Given the description of an element on the screen output the (x, y) to click on. 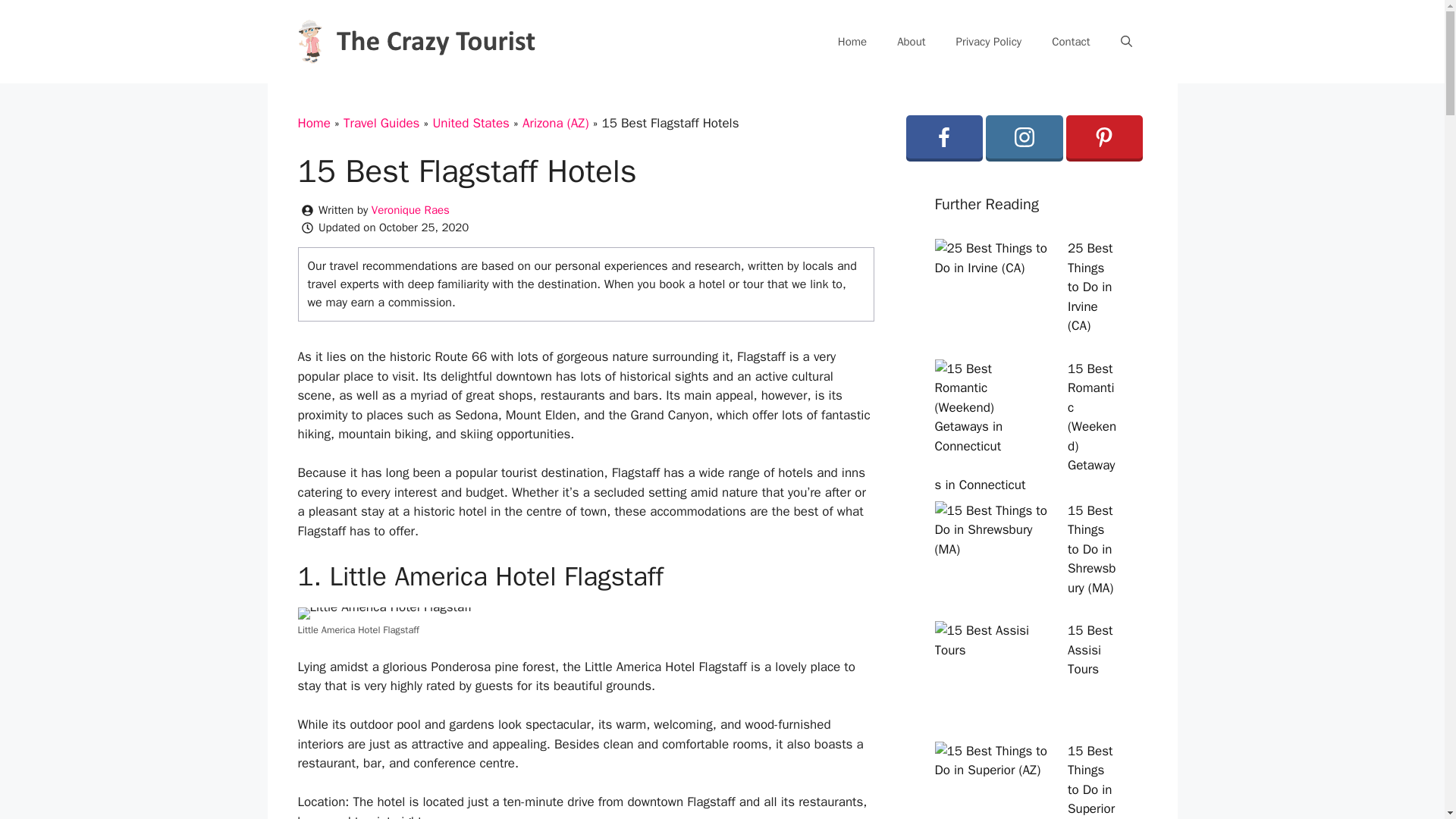
About (911, 41)
Home (852, 41)
United States (470, 123)
Home (313, 123)
Veronique Raes (410, 210)
Privacy Policy (988, 41)
Travel Guides (381, 123)
Contact (1070, 41)
